Given the description of an element on the screen output the (x, y) to click on. 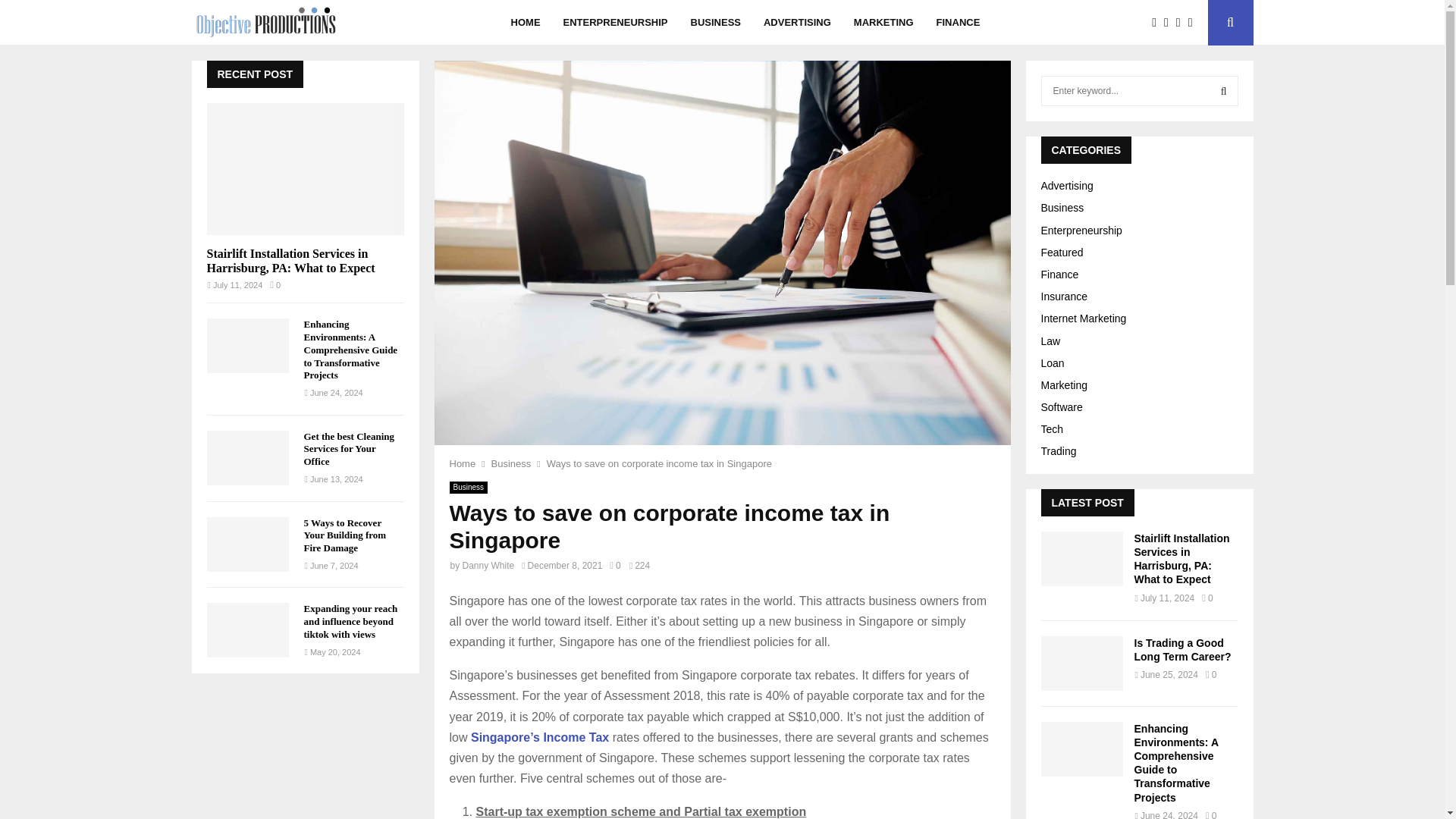
ADVERTISING (796, 22)
FINANCE (957, 22)
ENTERPRENEURSHIP (615, 22)
MARKETING (883, 22)
Business (467, 487)
Business (511, 463)
Home (462, 463)
Ways to save on corporate income tax in Singapore  (660, 463)
0 (615, 565)
BUSINESS (715, 22)
Danny White (489, 565)
